Given the description of an element on the screen output the (x, y) to click on. 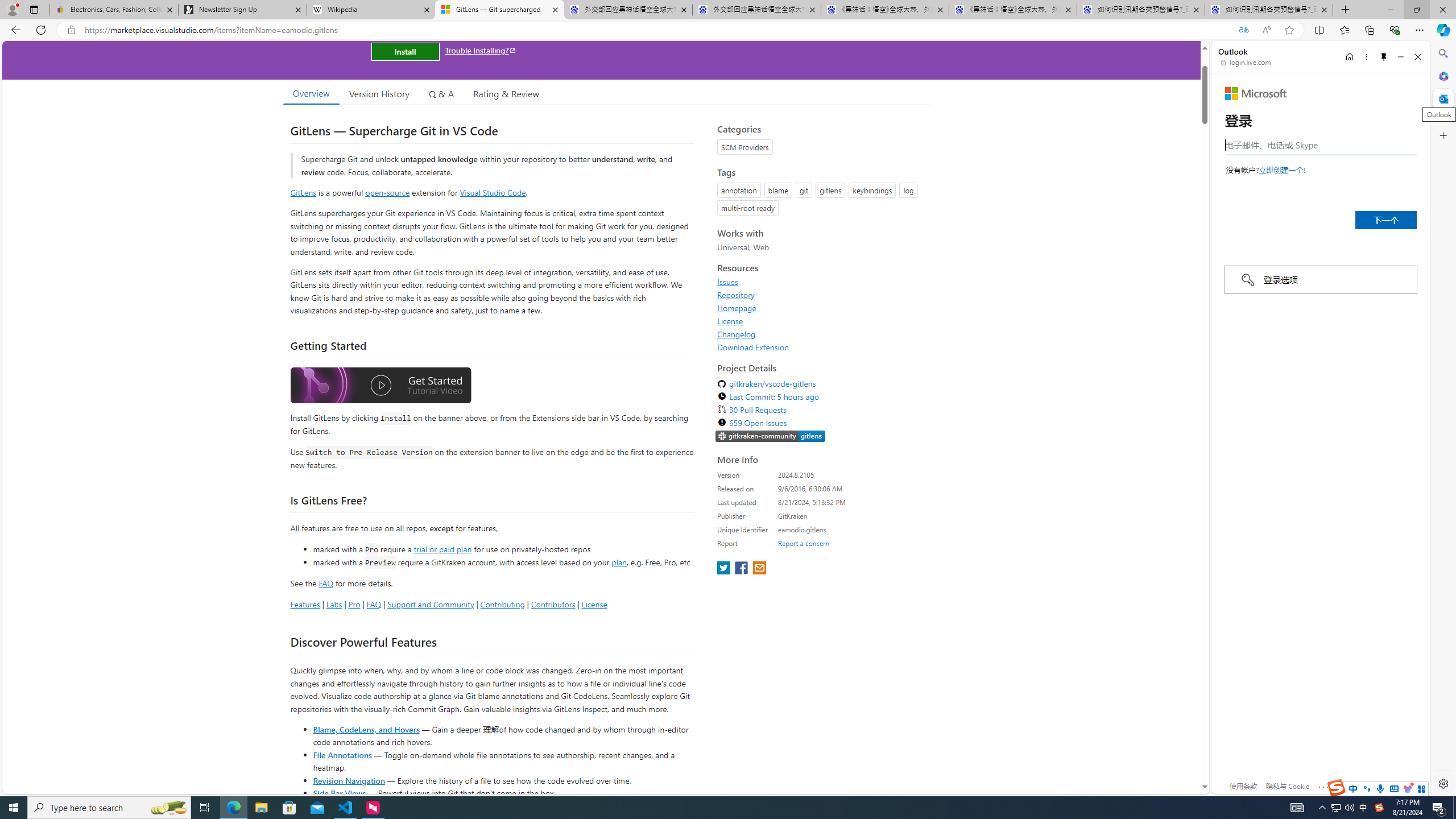
Install (405, 51)
Unpin side pane (1383, 56)
Version History (379, 92)
Issues (727, 281)
File Annotations (342, 754)
Homepage (737, 307)
